Given the description of an element on the screen output the (x, y) to click on. 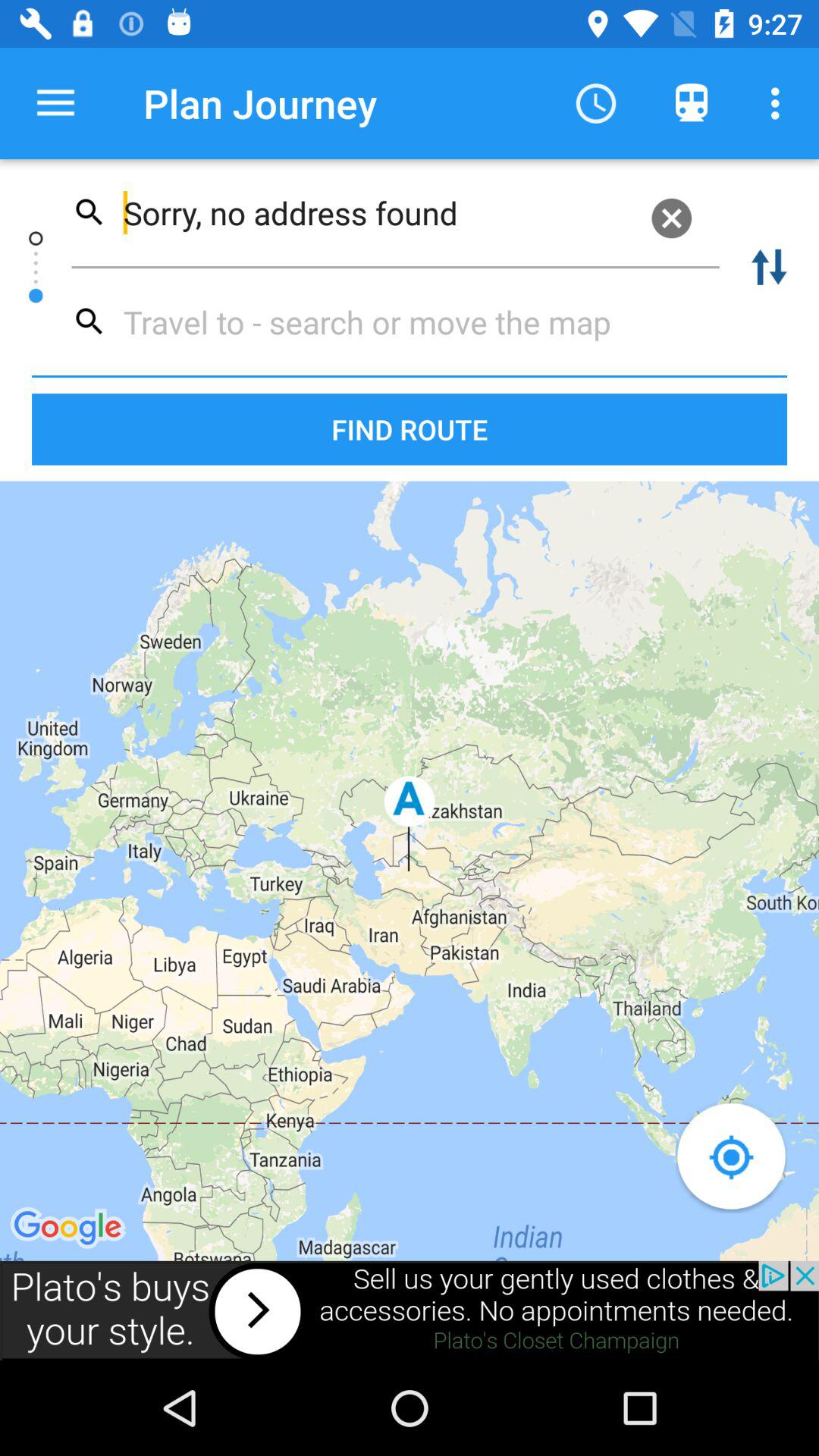
type location (388, 321)
